Given the description of an element on the screen output the (x, y) to click on. 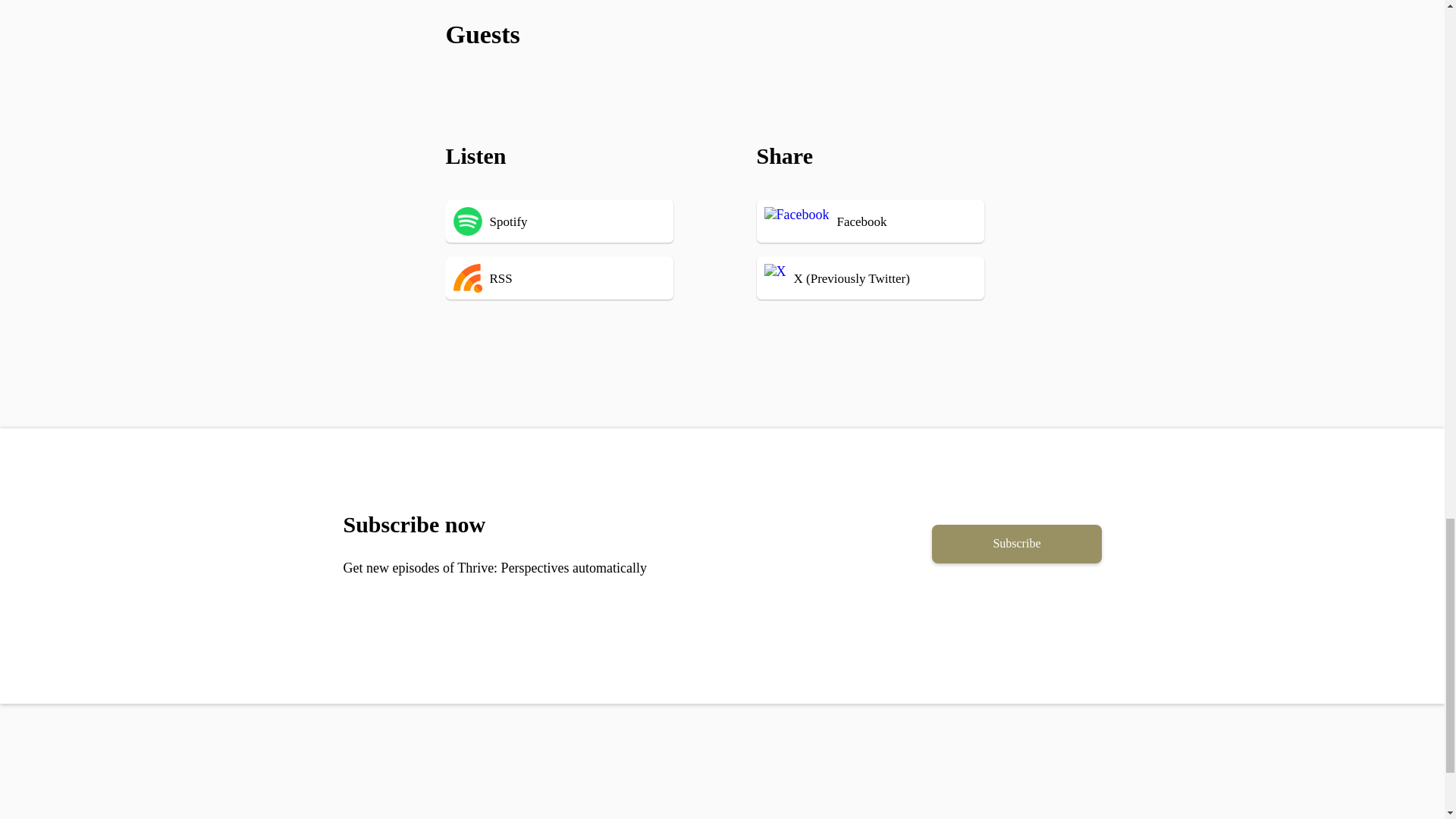
Facebook (877, 220)
Subscribe (1015, 543)
Spotify (582, 220)
RSS (582, 277)
